Given the description of an element on the screen output the (x, y) to click on. 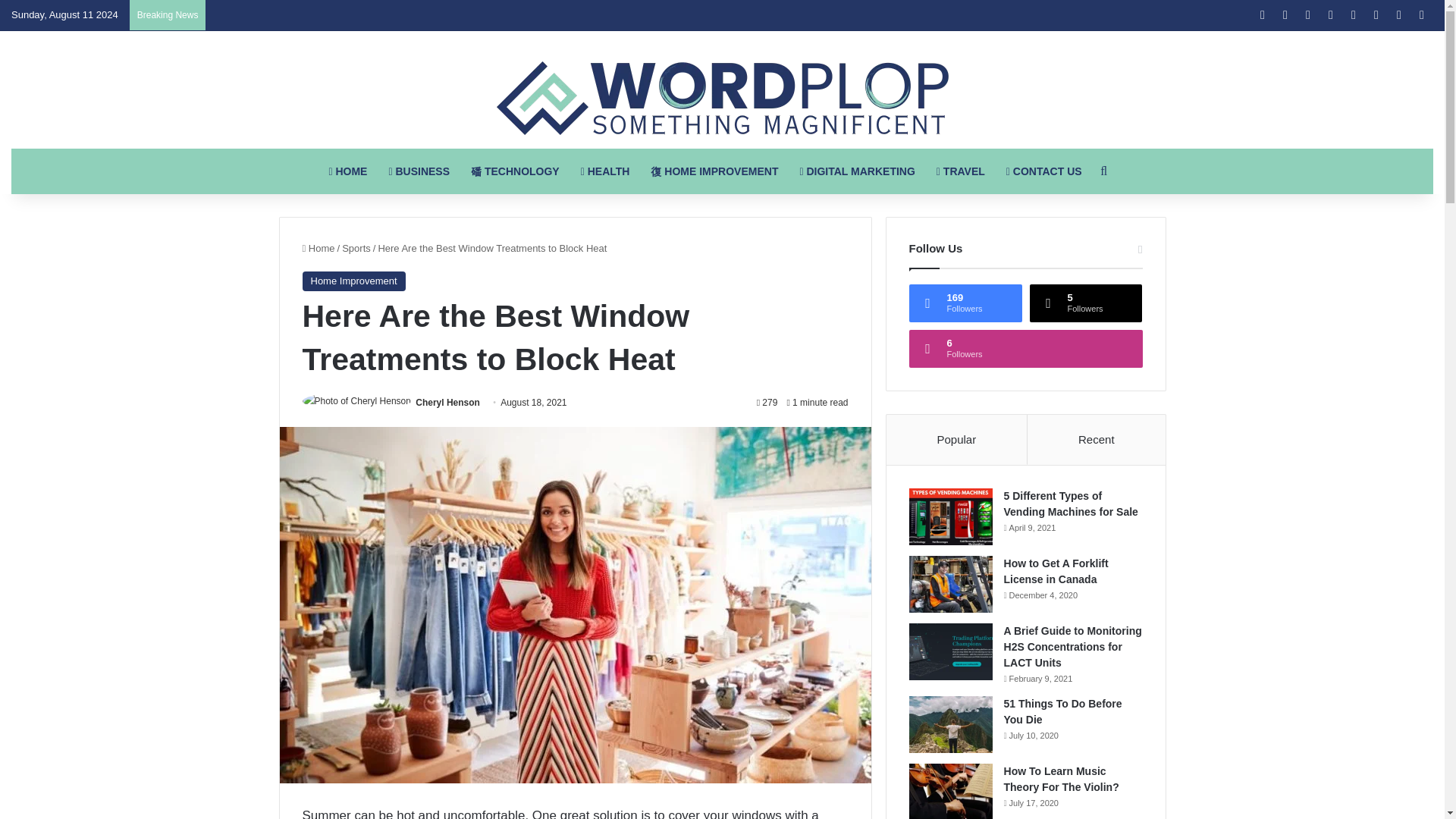
Cheryl Henson (447, 402)
HEALTH (605, 171)
DIGITAL MARKETING (856, 171)
BUSINESS (418, 171)
Home (317, 247)
HOME IMPROVEMENT (714, 171)
CONTACT US (1044, 171)
Home Improvement (352, 281)
Sports (356, 247)
TECHNOLOGY (515, 171)
